Given the description of an element on the screen output the (x, y) to click on. 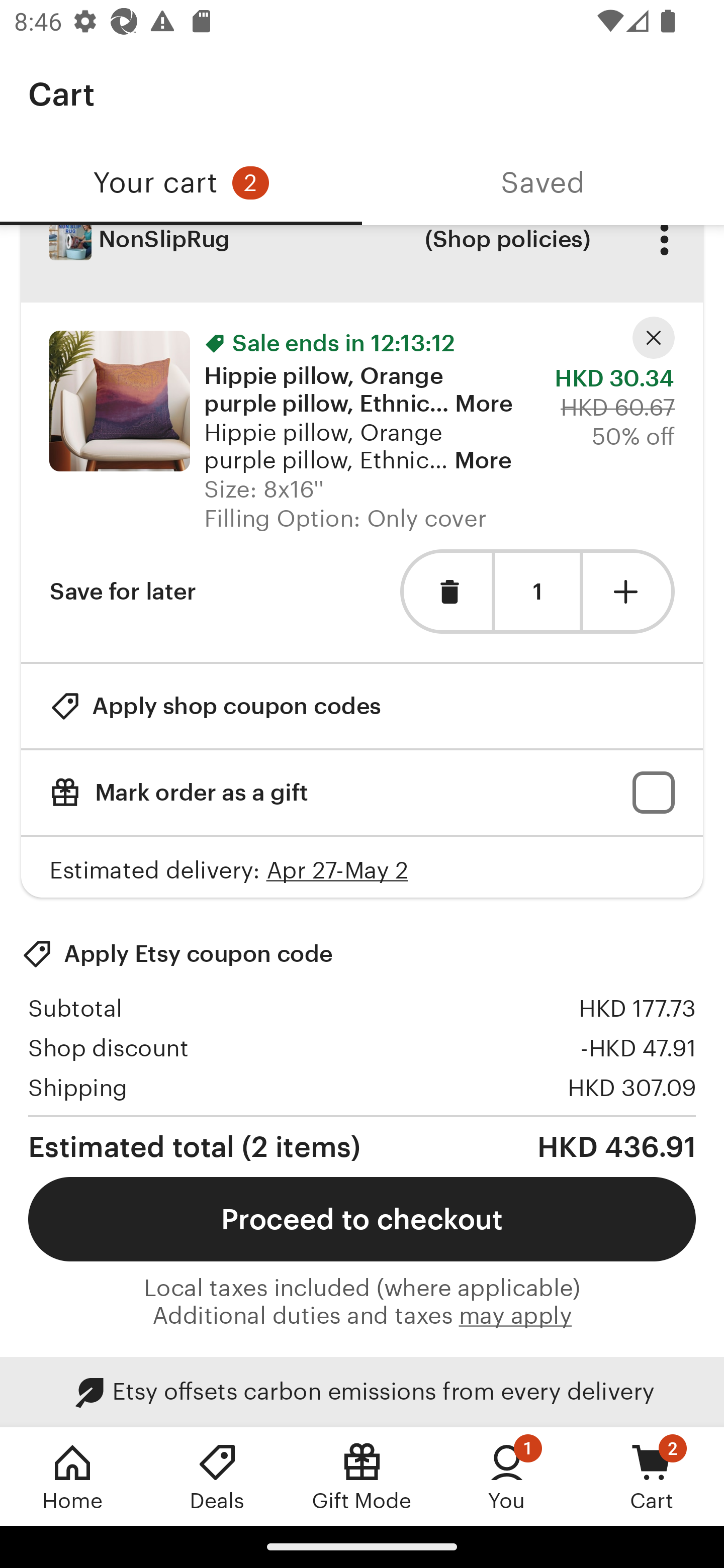
Saved, tab 2 of 2 Saved (543, 183)
NonSlipRug (Shop policies) More options (361, 263)
(Shop policies) (507, 252)
More options (663, 252)
Save for later (122, 590)
Remove item from cart (445, 590)
Add one unit to cart (628, 590)
1 (537, 591)
Apply shop coupon codes (215, 705)
Mark order as a gift (361, 792)
Apply Etsy coupon code (177, 953)
Proceed to checkout (361, 1218)
Home (72, 1475)
Deals (216, 1475)
Gift Mode (361, 1475)
You, 1 new notification You (506, 1475)
